Given the description of an element on the screen output the (x, y) to click on. 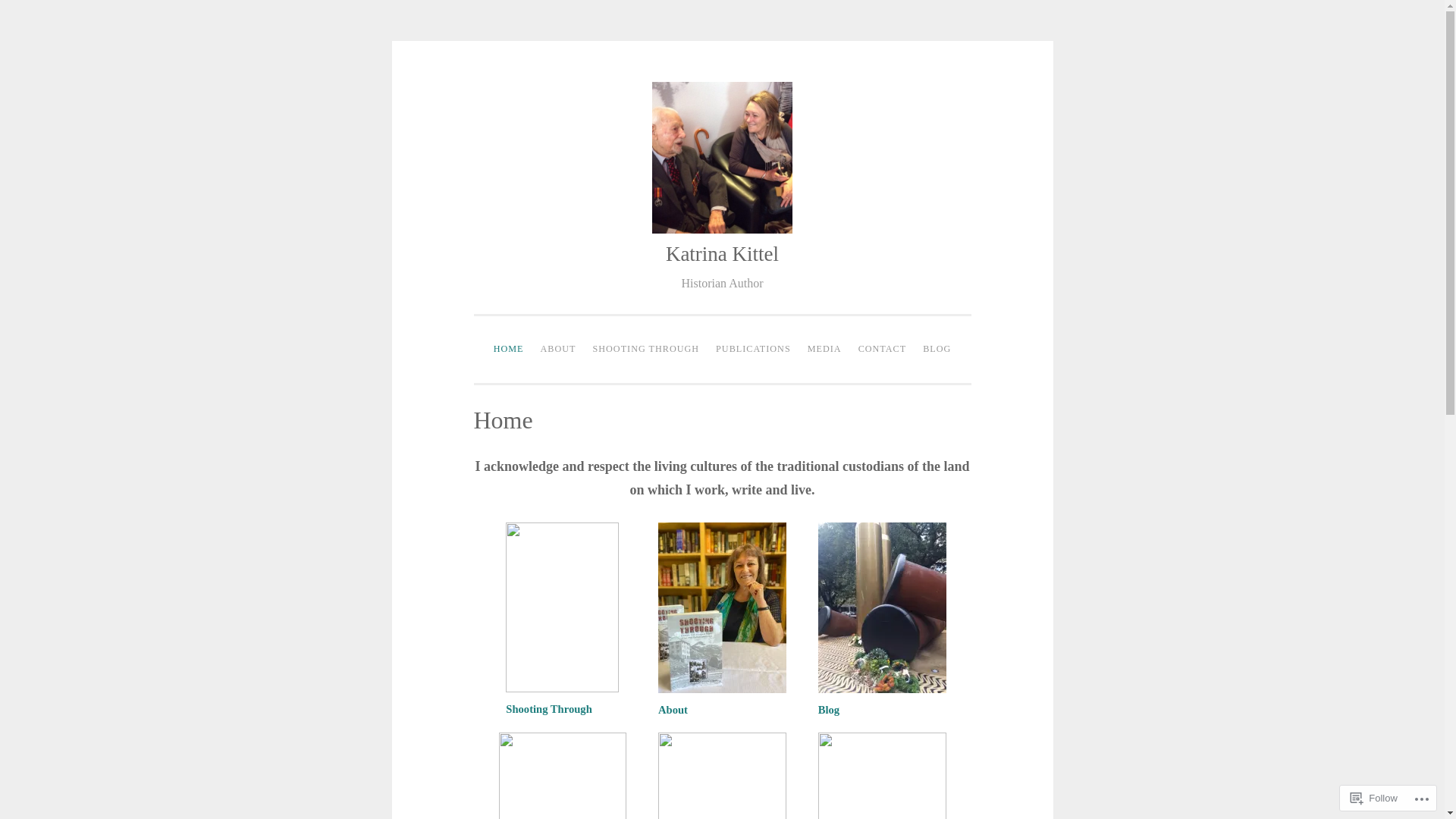
Katrina Kittel Element type: text (721, 253)
Blog Element type: text (828, 709)
BLOG Element type: text (936, 349)
CONTACT Element type: text (882, 349)
About Element type: text (672, 709)
SHOOTING THROUGH Element type: text (645, 349)
PUBLICATIONS Element type: text (753, 349)
Shooting Through Element type: text (548, 708)
MEDIA Element type: text (824, 349)
Follow Element type: text (1373, 797)
ABOUT Element type: text (558, 349)
HOME Element type: text (508, 349)
